Given the description of an element on the screen output the (x, y) to click on. 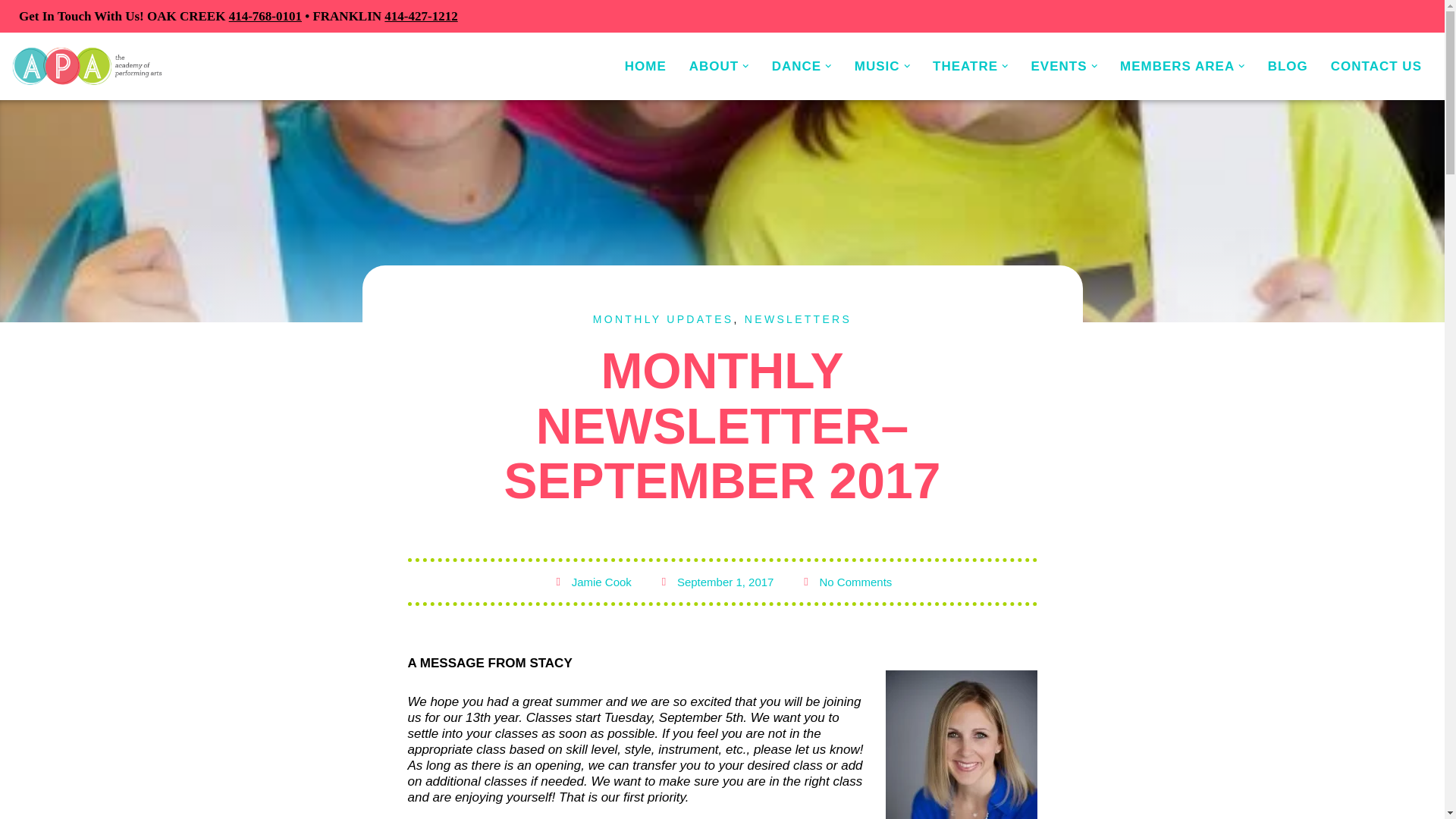
DANCE (801, 66)
CONTACT US (1376, 66)
414-427-1212 (420, 16)
BLOG (1287, 66)
MEMBERS AREA (1181, 66)
HOME (645, 66)
The Academy of Performing Arts (87, 65)
THEATRE (971, 66)
MUSIC (882, 66)
ABOUT (718, 66)
